Given the description of an element on the screen output the (x, y) to click on. 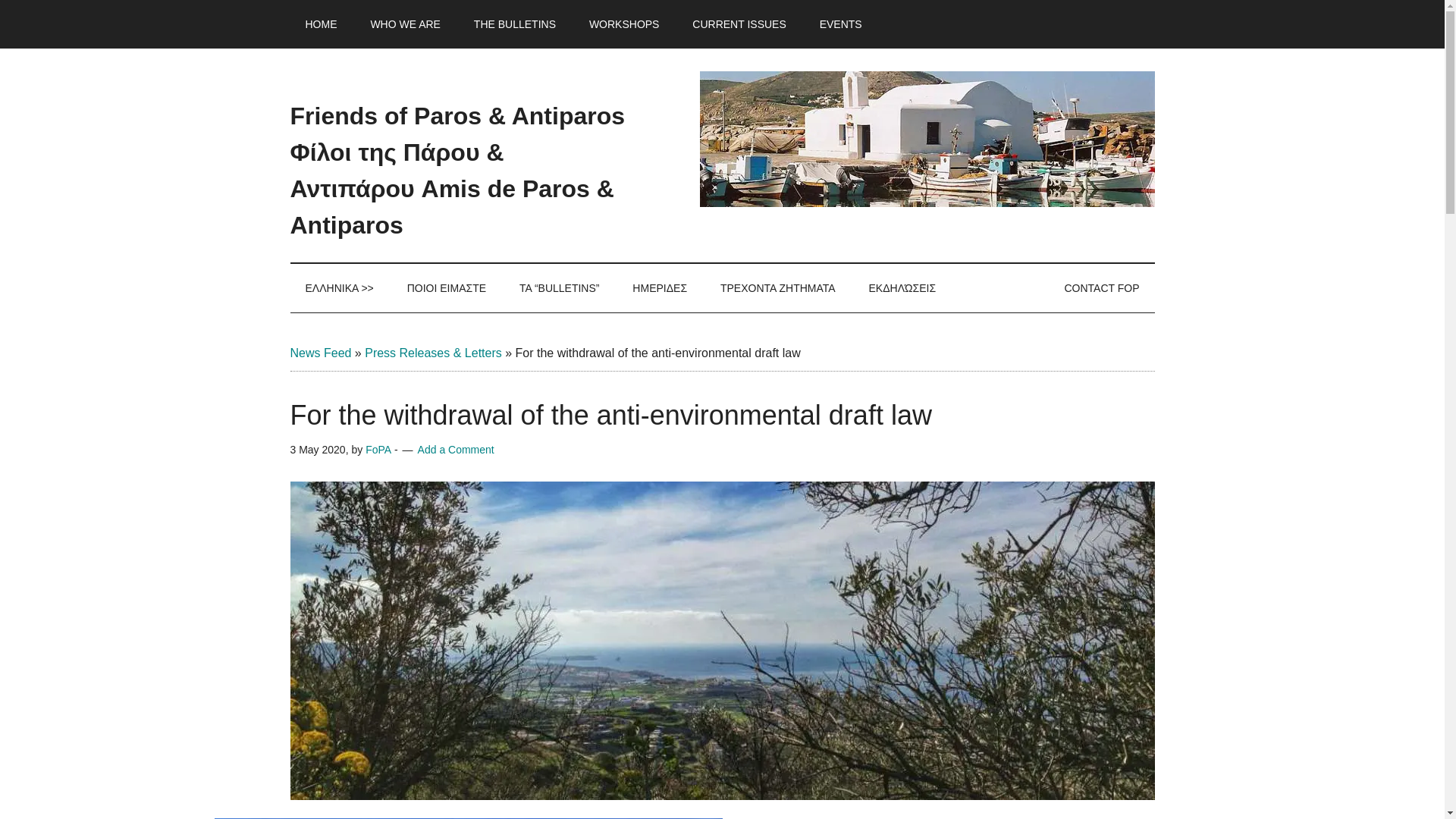
HOME (320, 24)
THE BULLETINS (514, 24)
WHO WE ARE (405, 24)
